Given the description of an element on the screen output the (x, y) to click on. 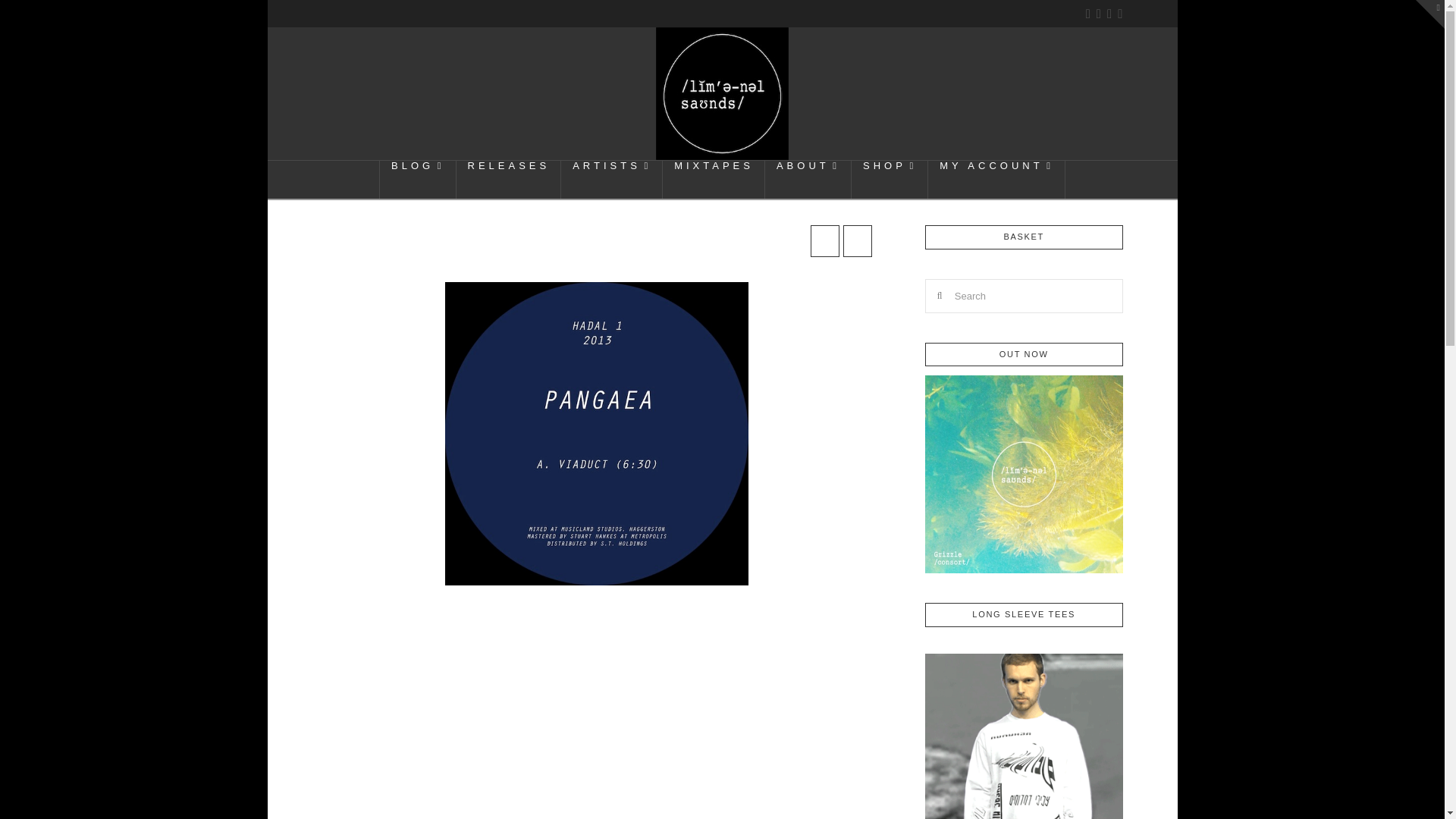
MIXTAPES (713, 179)
SHOP (889, 179)
Record Label (722, 93)
ABOUT (808, 179)
BLOG (416, 179)
ARTISTS (611, 179)
RELEASES (509, 179)
